Given the description of an element on the screen output the (x, y) to click on. 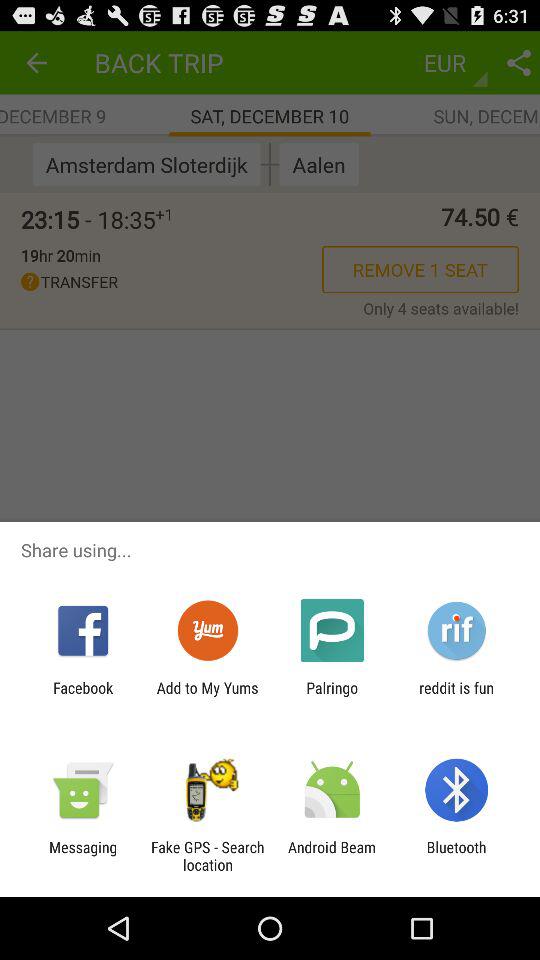
swipe until the reddit is fun icon (456, 696)
